Given the description of an element on the screen output the (x, y) to click on. 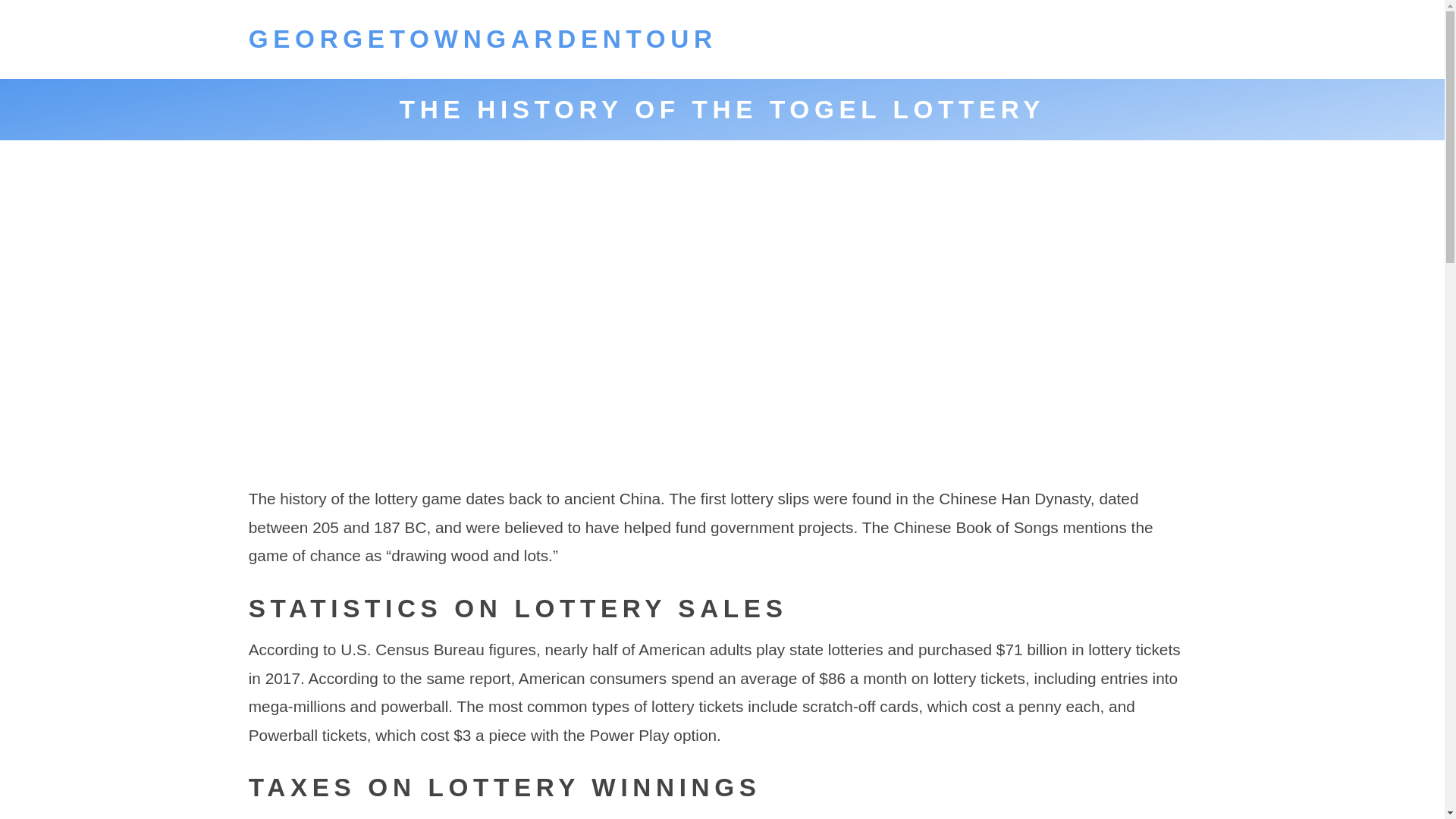
GEORGETOWNGARDENTOUR (482, 39)
